Given the description of an element on the screen output the (x, y) to click on. 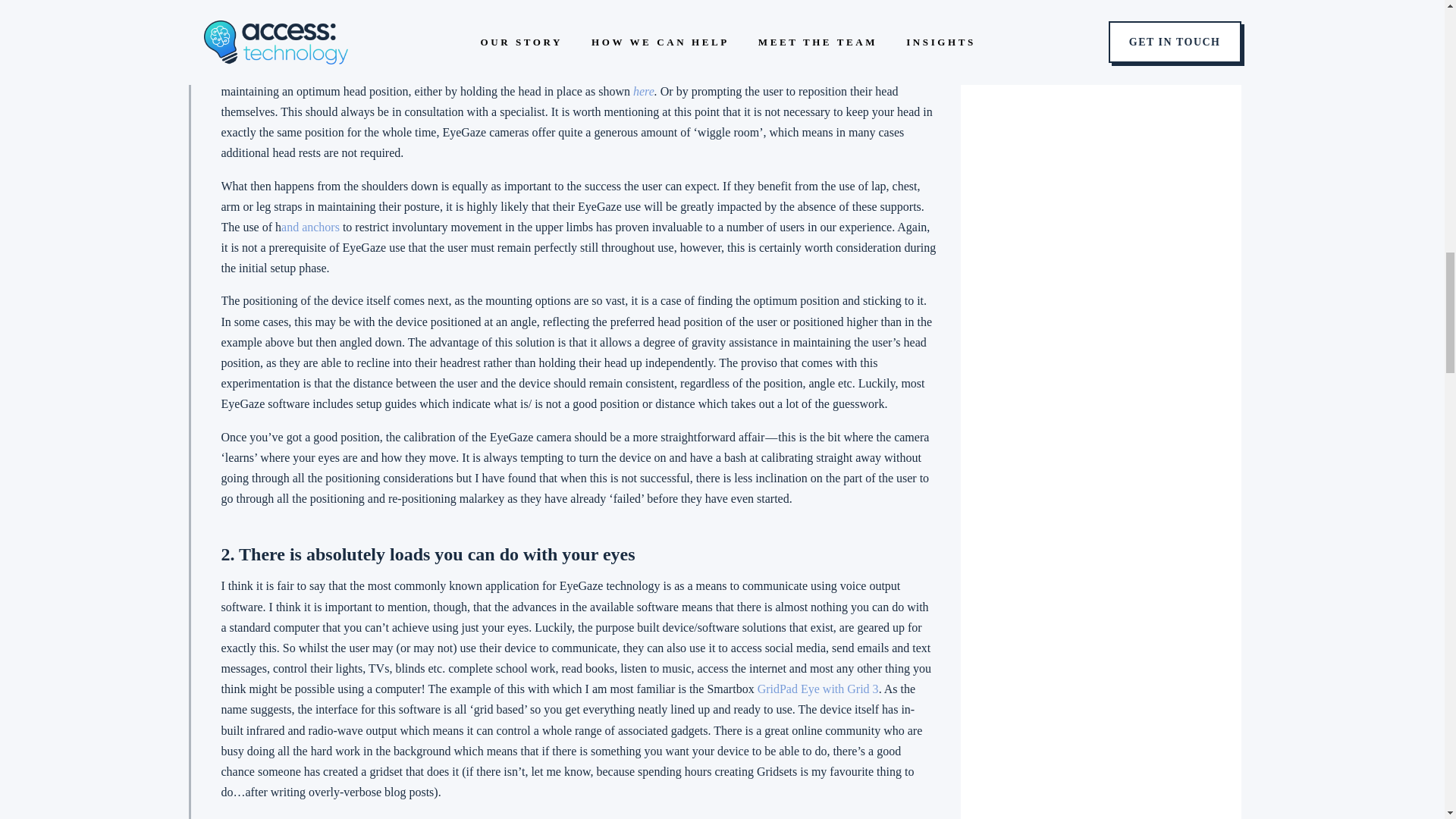
GridPad Eye with Grid 3 (818, 688)
here (643, 91)
and anchors (310, 226)
Rehadapt range of mounts (470, 37)
